Given the description of an element on the screen output the (x, y) to click on. 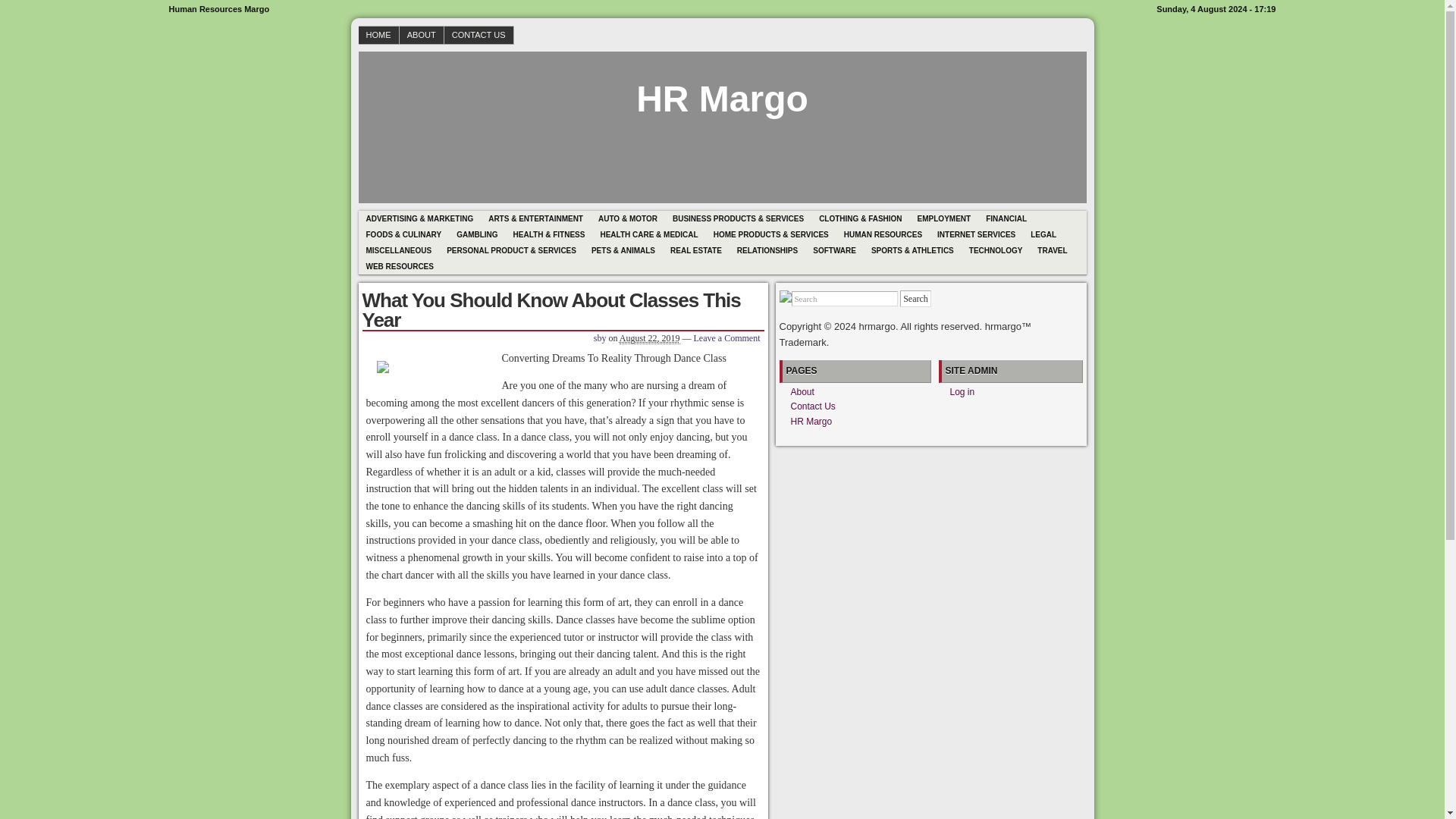
INTERNET SERVICES (976, 234)
Log in (961, 391)
August 22, 2019 - 4:51 pm (649, 337)
GAMBLING (476, 234)
Search (845, 298)
SOFTWARE (834, 250)
Contact Us (812, 406)
Leave a Comment (727, 337)
CONTACT US (478, 34)
ABOUT (421, 34)
sby (600, 337)
HR Margo (810, 421)
REAL ESTATE (695, 250)
View all posts by sby (600, 337)
TECHNOLOGY (995, 250)
